Given the description of an element on the screen output the (x, y) to click on. 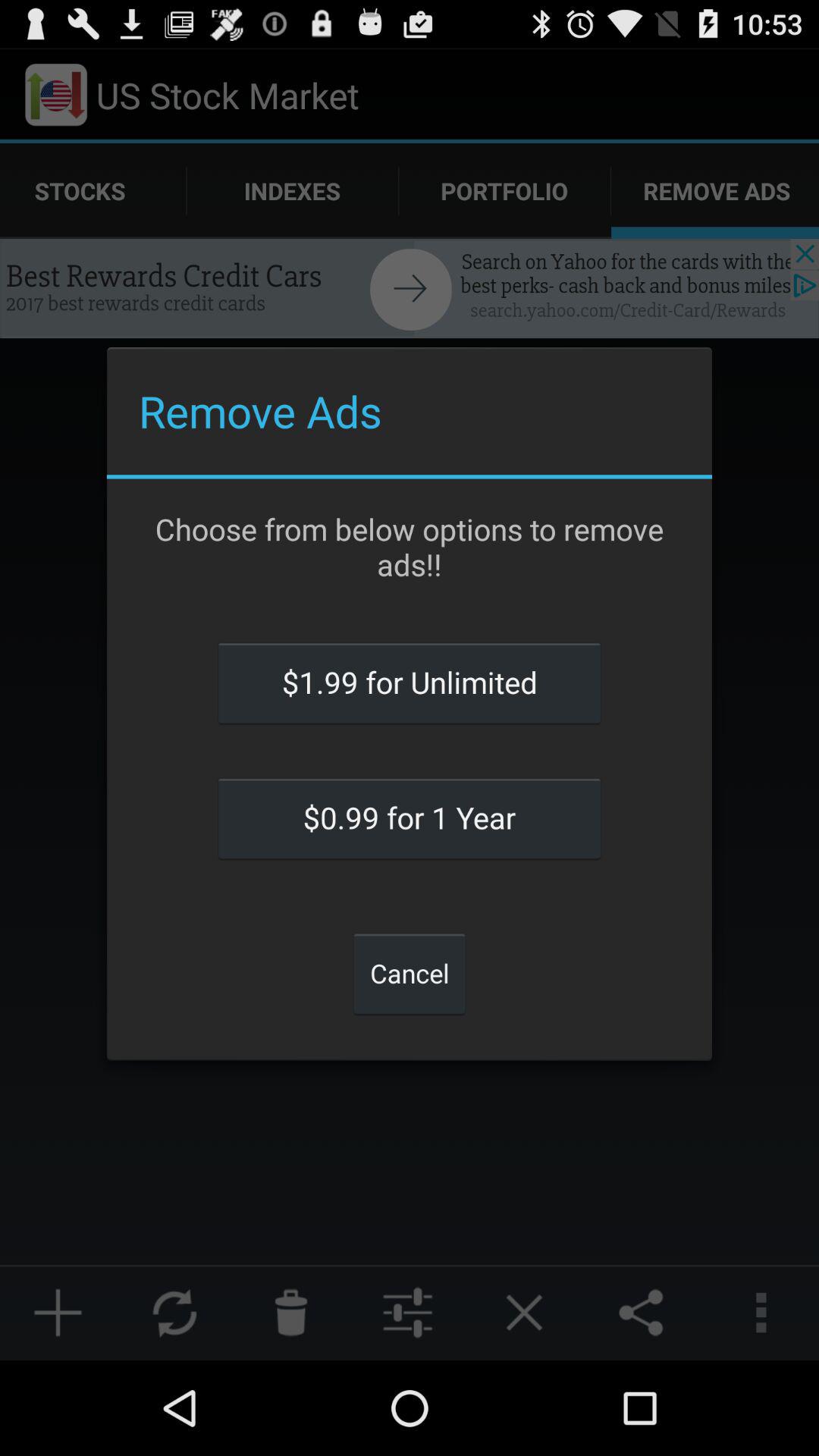
scroll to the cancel button (409, 972)
